Given the description of an element on the screen output the (x, y) to click on. 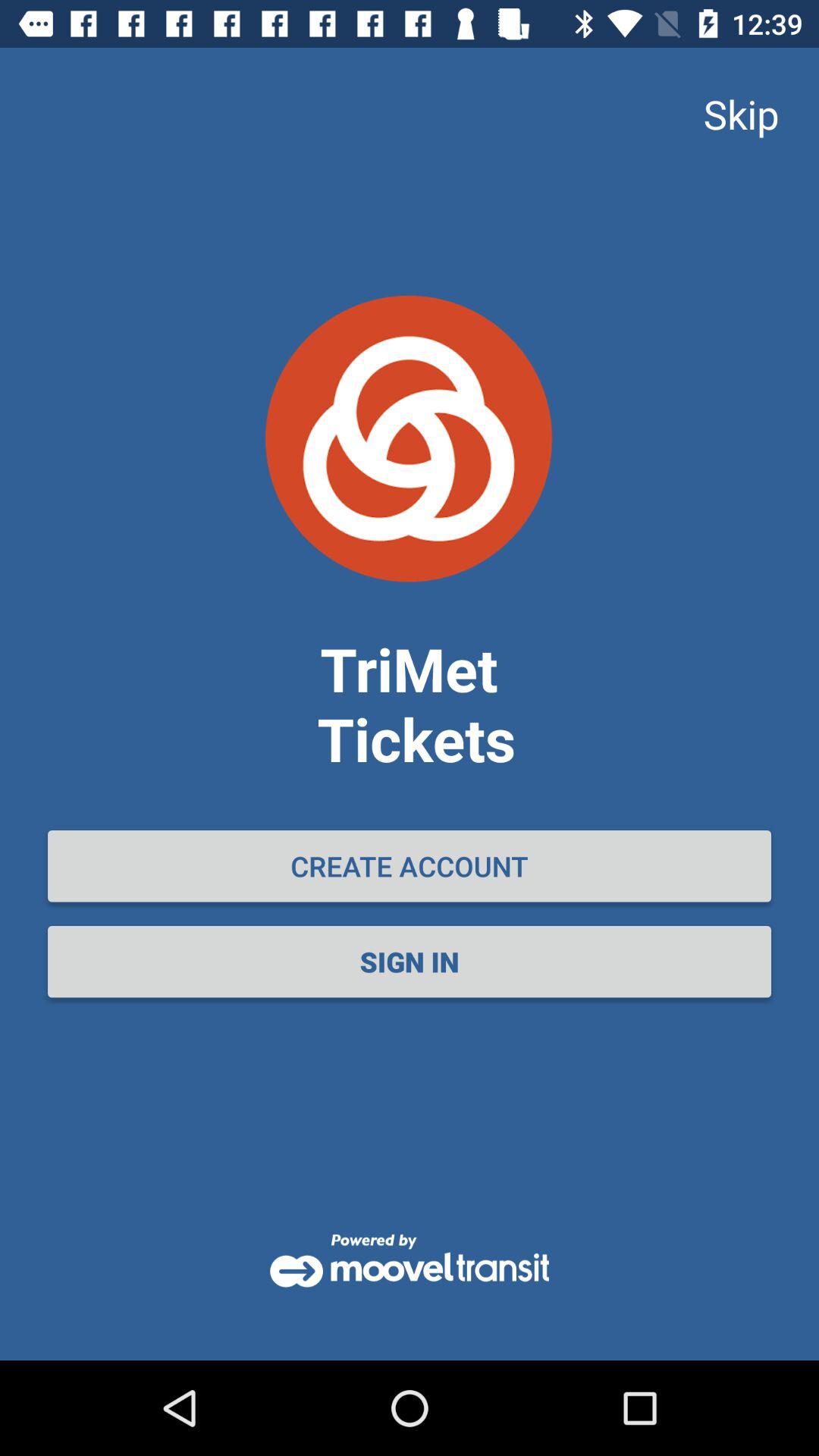
jump to the sign in (409, 961)
